Given the description of an element on the screen output the (x, y) to click on. 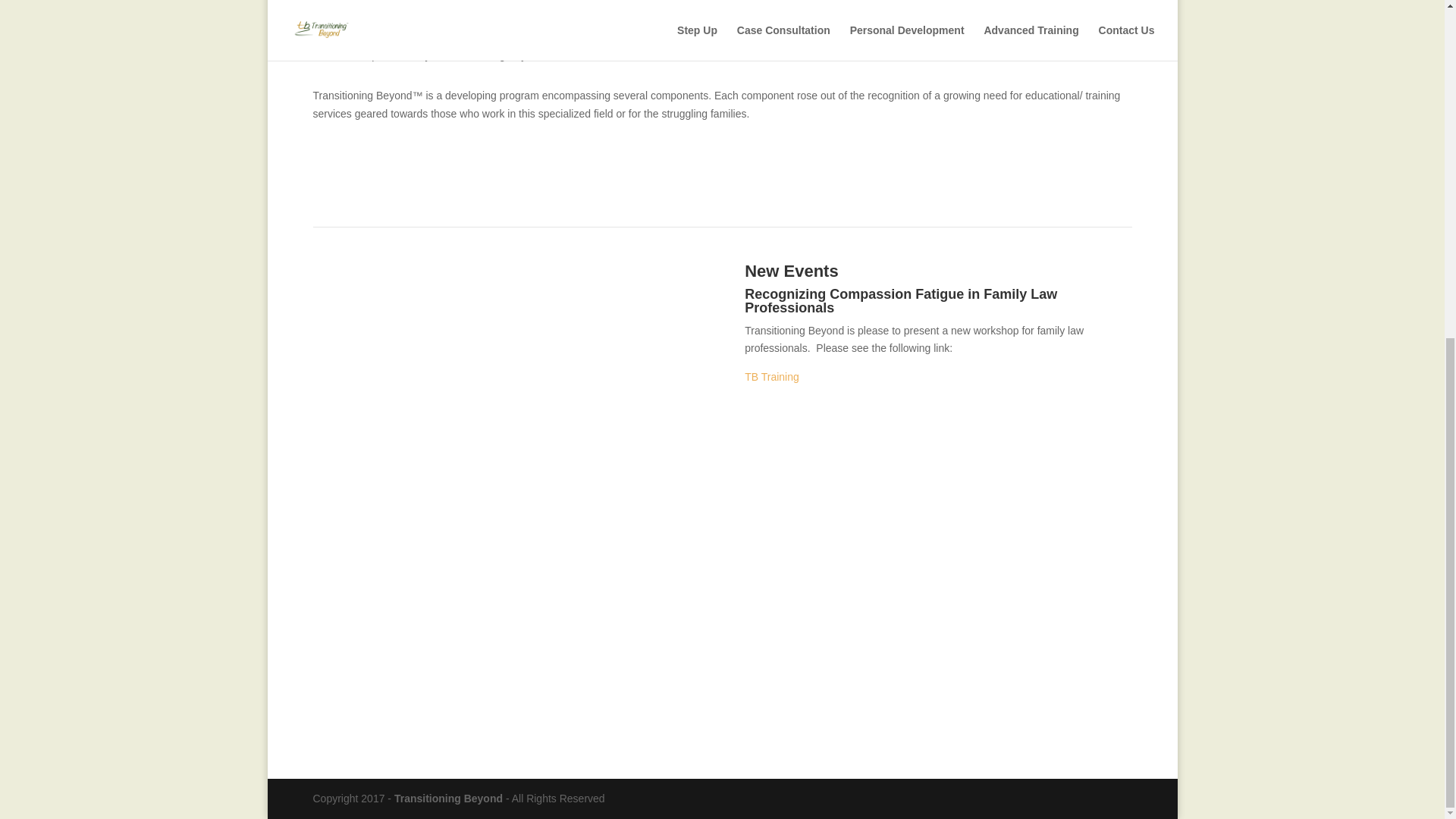
TB Training (771, 377)
Transitioning Beyond (448, 798)
Transitioning Beyond (448, 798)
